Given the description of an element on the screen output the (x, y) to click on. 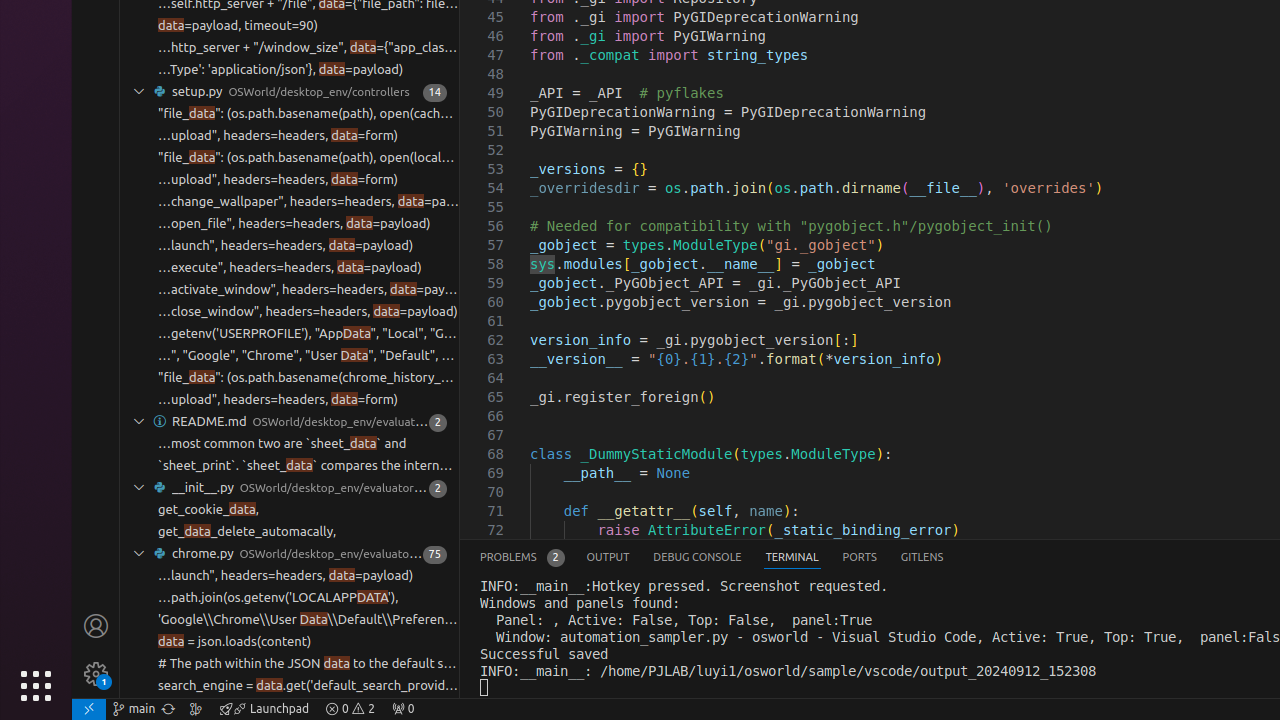
Manage - New Code update available. Element type: push-button (96, 674)
' response = requests.post(self.http_server + "/setup" + "/open_file", headers=headers, data=payload)' at column 99 found data Element type: tree-item (289, 223)
Accounts Element type: push-button (96, 626)
…most common two are `sheet_data` and Element type: link (282, 443)
…open_file", headers=headers, data=payload) Element type: link (294, 223)
